Given the description of an element on the screen output the (x, y) to click on. 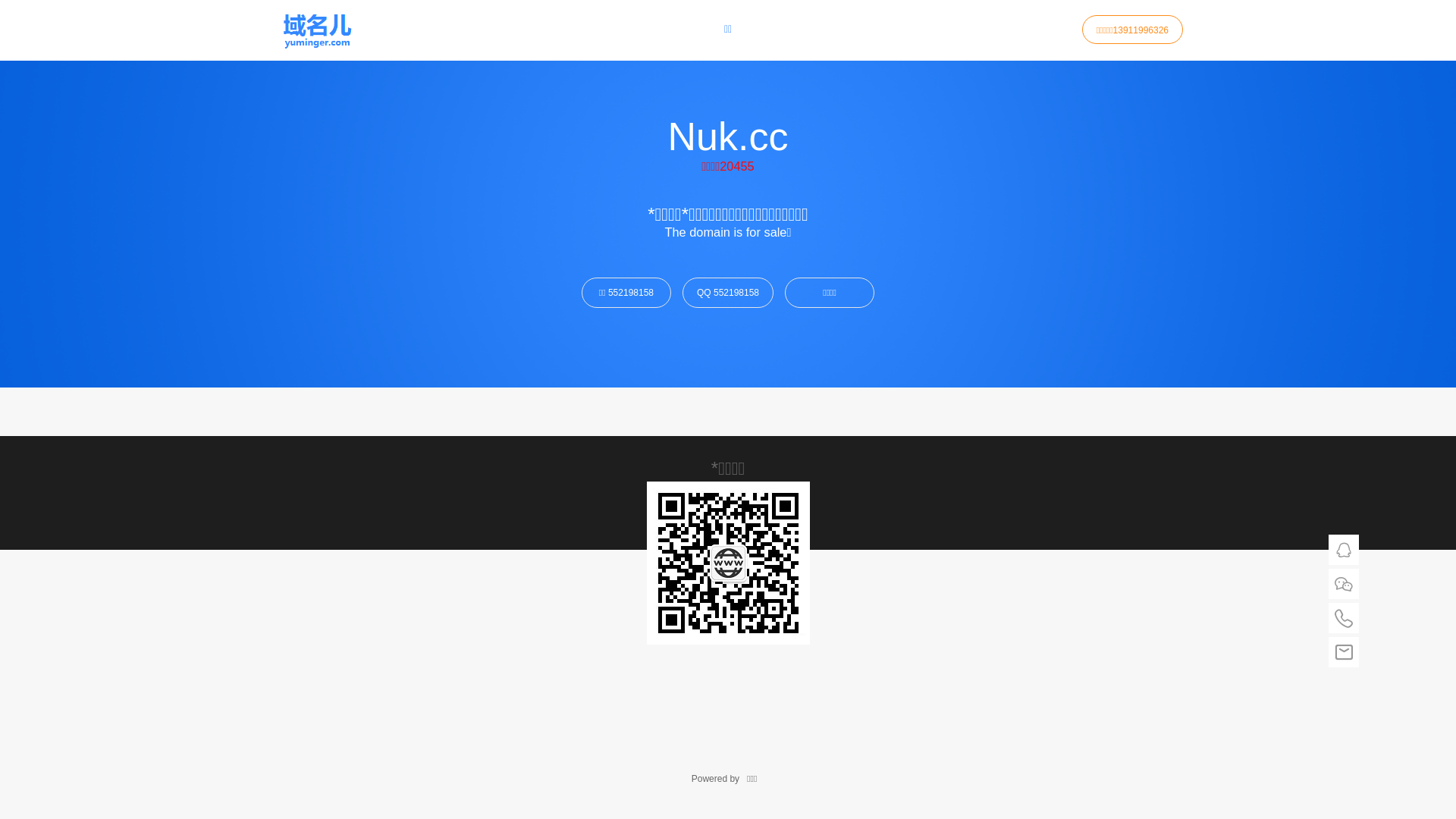
QQ 552198158 Element type: text (727, 292)
1592246946108550.jpg Element type: hover (727, 562)
